Given the description of an element on the screen output the (x, y) to click on. 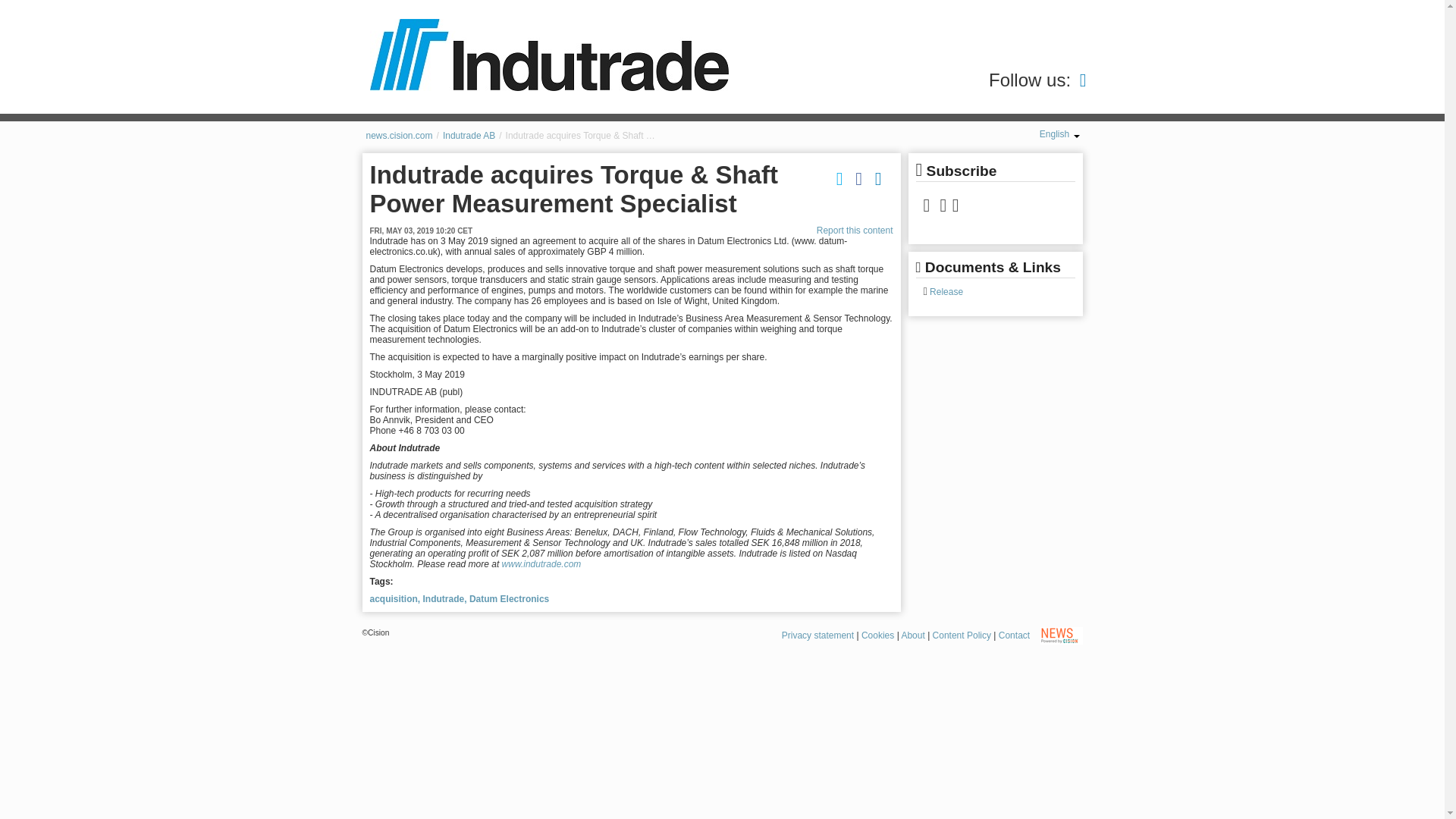
news.cision.com (398, 135)
www.indutrade.com (541, 563)
Cookies (877, 634)
Indutrade AB (549, 54)
Indutrade AB (468, 135)
Content Policy (962, 634)
Privacy statement (817, 634)
Datum Electronics (508, 598)
Contact (1013, 634)
acquisition (394, 598)
Indutrade AB (468, 135)
Report this content (854, 230)
news.cision.com (398, 135)
Release (944, 291)
English (1059, 133)
